Given the description of an element on the screen output the (x, y) to click on. 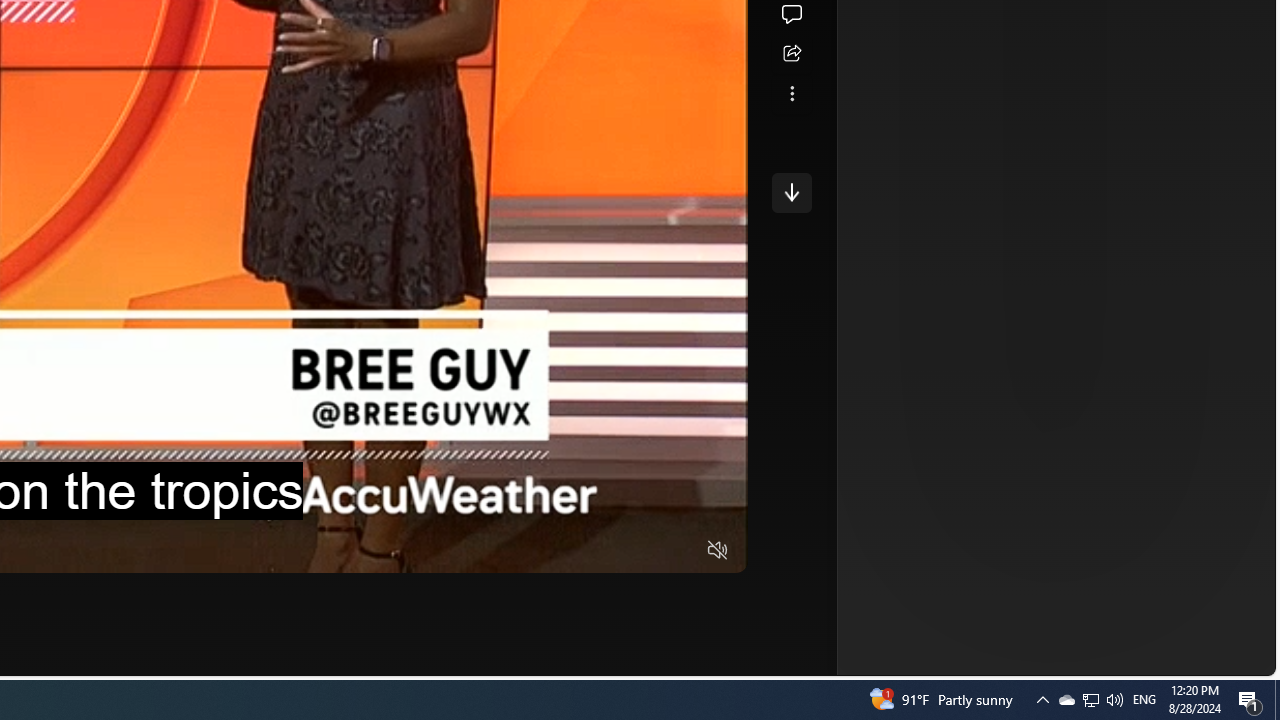
Unmute (717, 550)
Quality Settings (599, 550)
Share this story (791, 53)
The Wall Street Journal (777, 12)
